Given the description of an element on the screen output the (x, y) to click on. 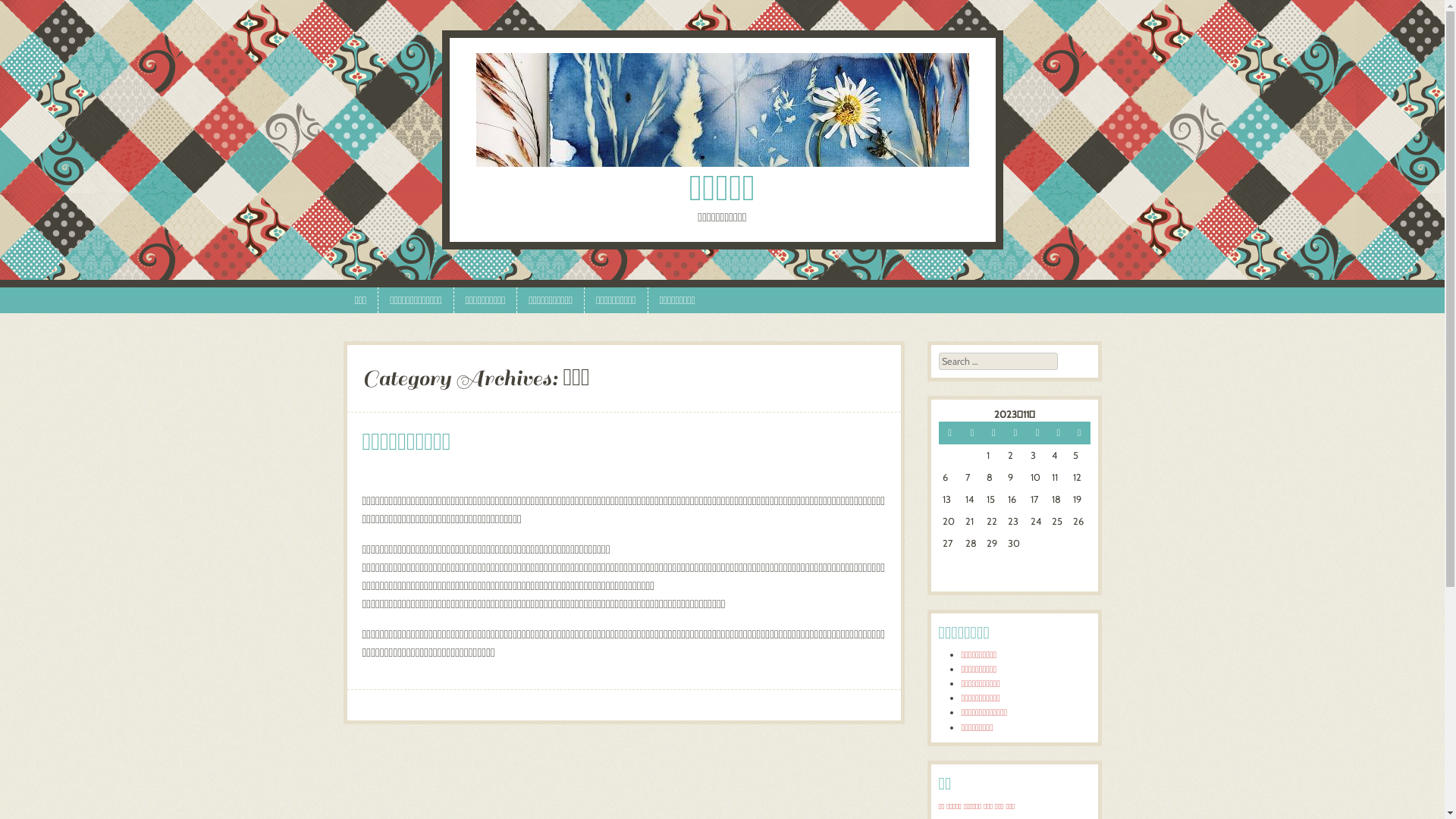
Search Element type: text (31, 21)
Skip to content Element type: text (38, 296)
